Given the description of an element on the screen output the (x, y) to click on. 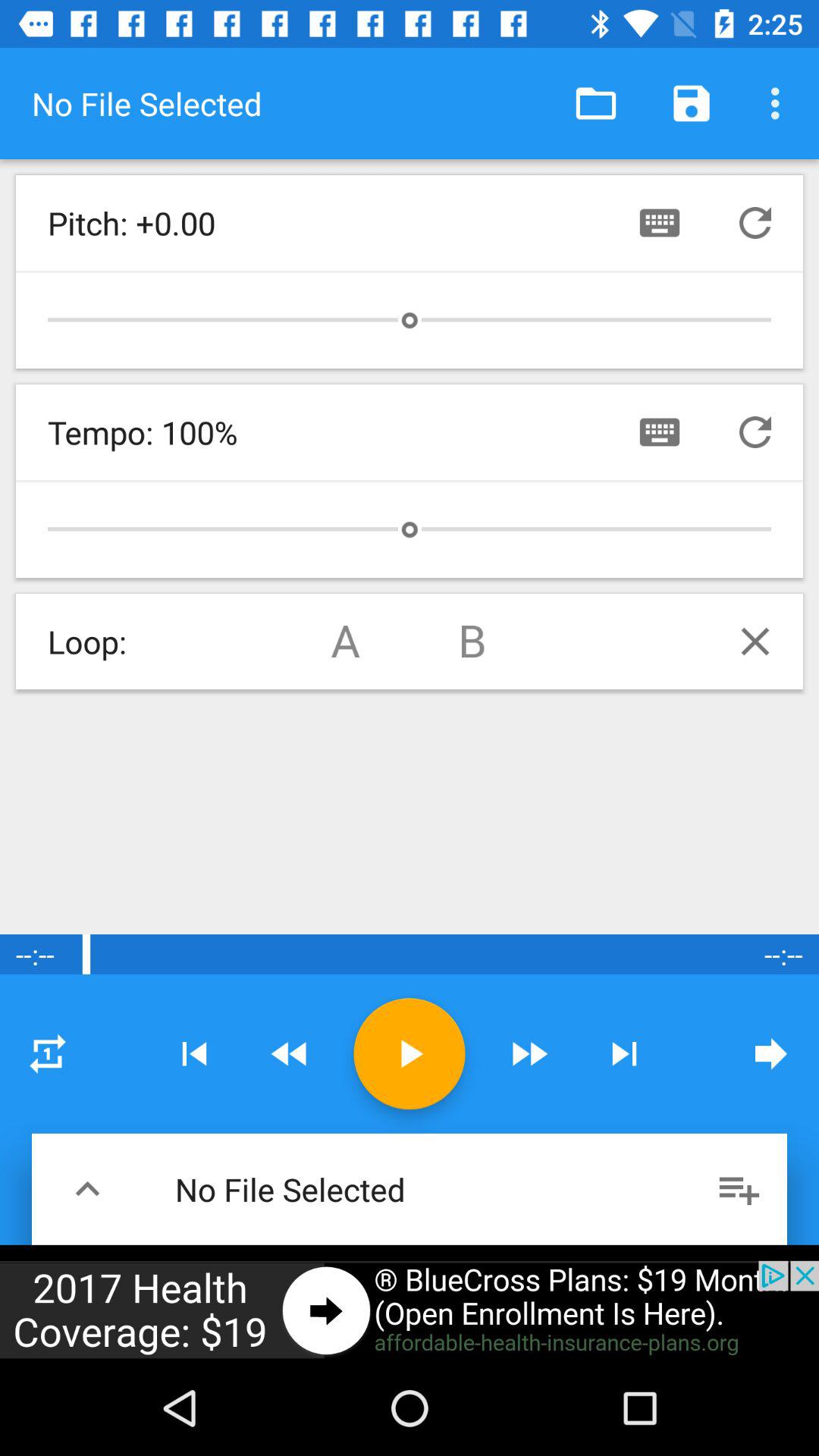
open the keyboard (659, 222)
